Given the description of an element on the screen output the (x, y) to click on. 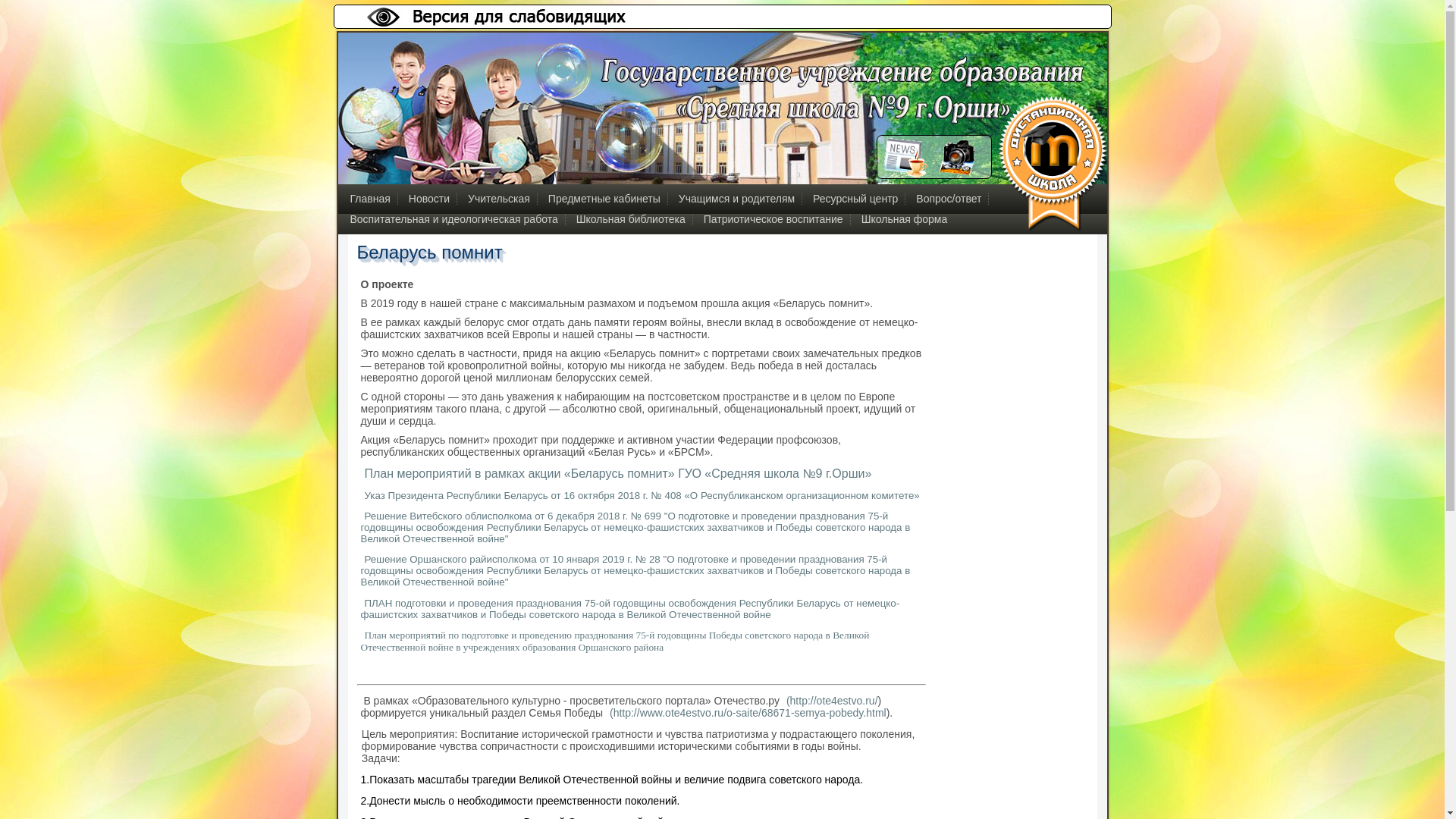
(http://www.ote4estvo.ru/o-saite/68671-semya-pobedy.html Element type: text (745, 712)
(http://ote4estvo.ru/ Element type: text (830, 700)
